Given the description of an element on the screen output the (x, y) to click on. 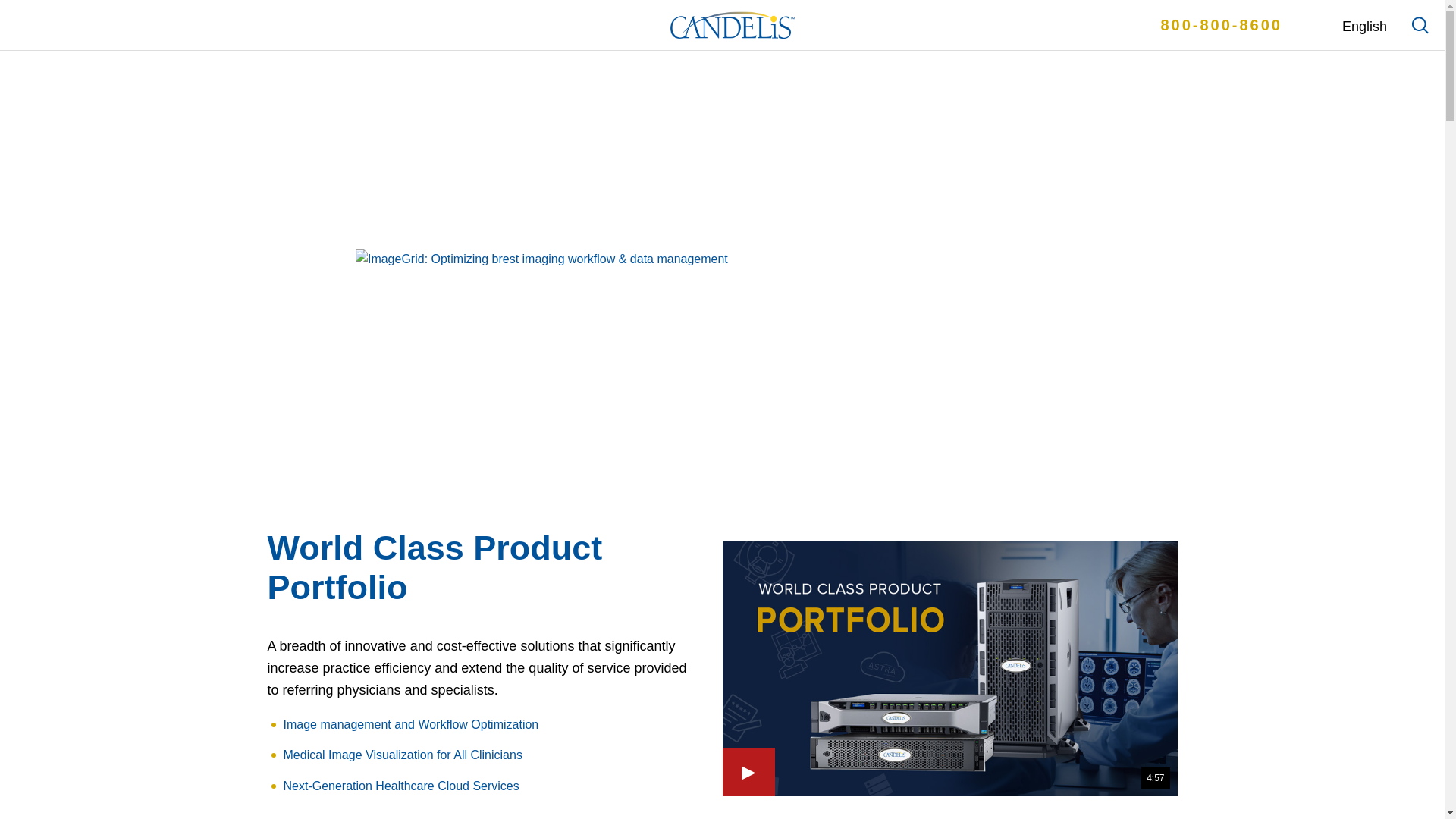
Search (1419, 24)
800-800-8600 (1221, 24)
English (1346, 25)
